Given the description of an element on the screen output the (x, y) to click on. 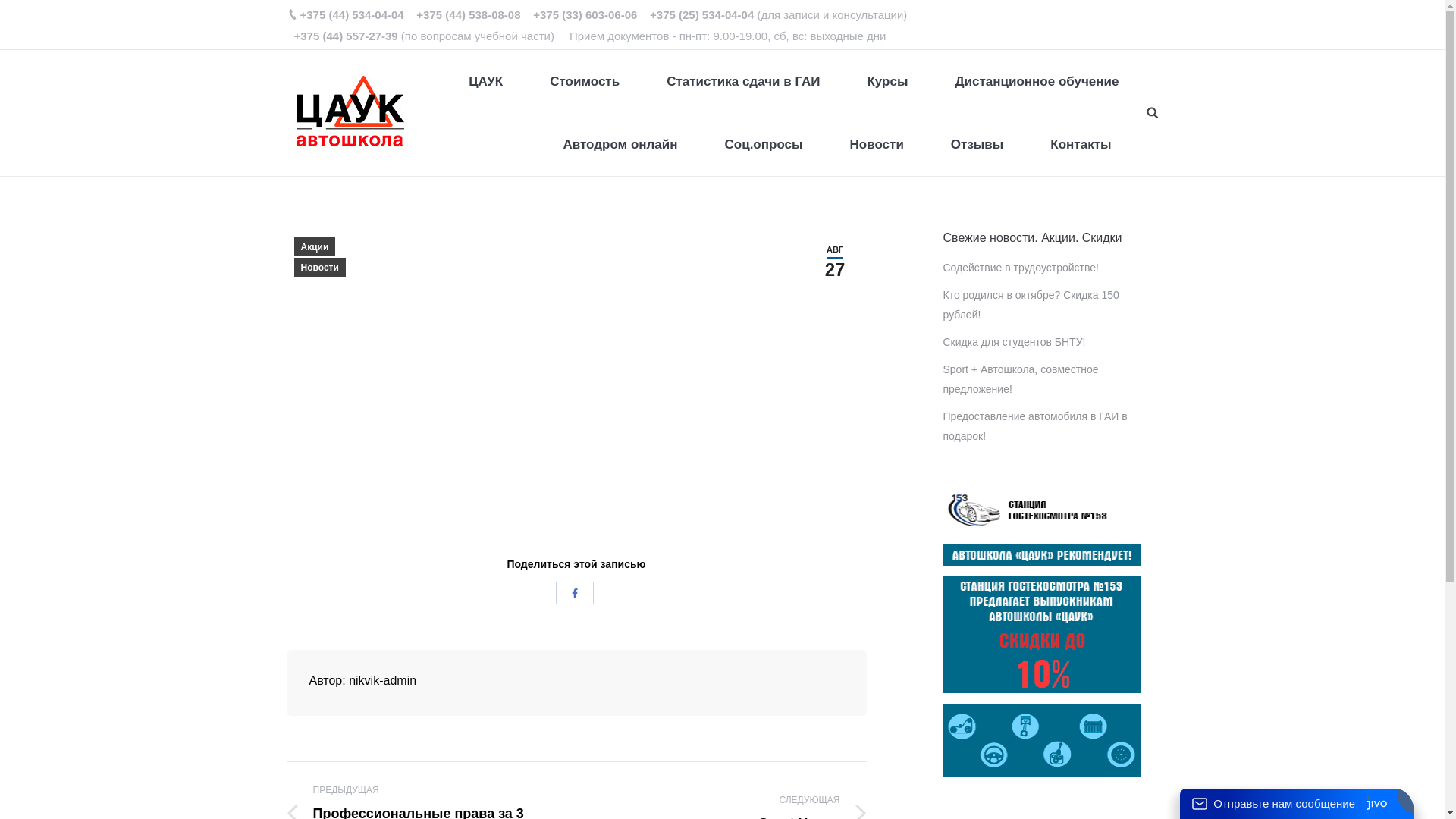
  Element type: text (1152, 112)
Facebook Element type: hover (574, 591)
